Given the description of an element on the screen output the (x, y) to click on. 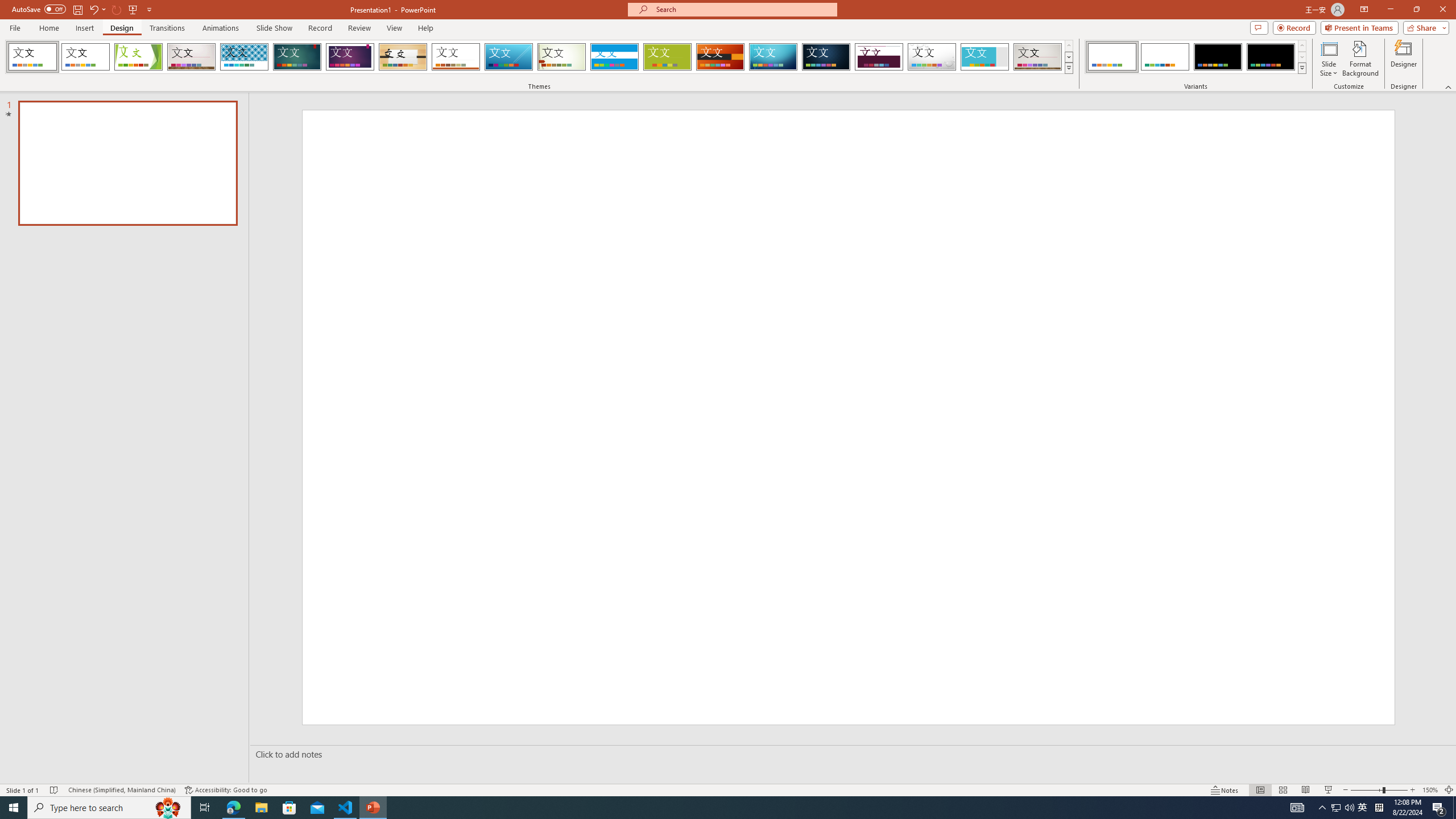
Integral Loading Preview... (244, 56)
Gallery Loading Preview... (1037, 56)
Office Theme Variant 1 (1112, 56)
Office Theme Variant 3 (1217, 56)
Facet (138, 56)
